Given the description of an element on the screen output the (x, y) to click on. 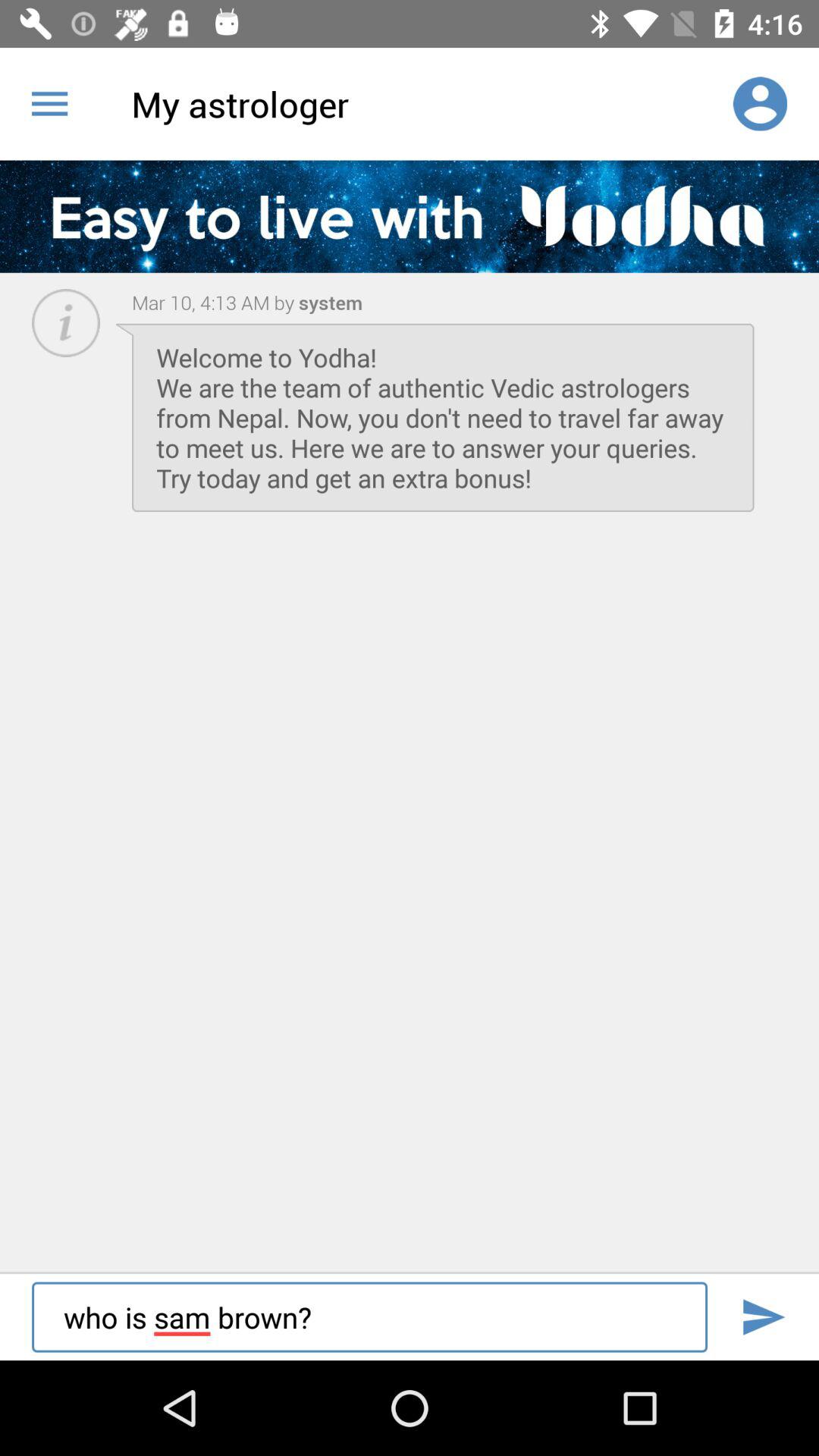
turn on the who is sam item (369, 1316)
